Given the description of an element on the screen output the (x, y) to click on. 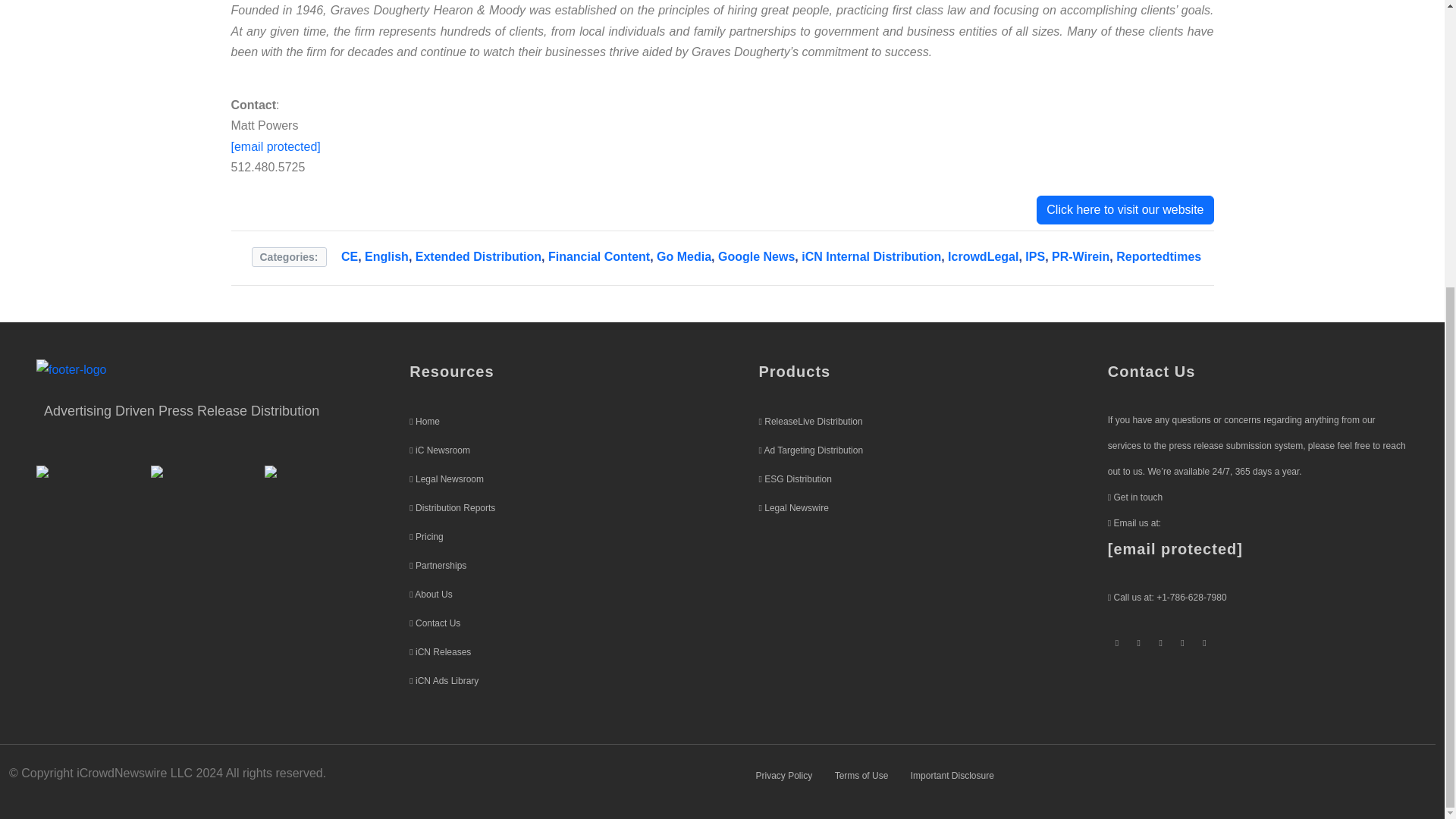
IPS (1035, 256)
Extended Distribution (477, 256)
IcrowdLegal (982, 256)
Google News (755, 256)
Home (426, 421)
Click here to visit our website (1124, 209)
CE (349, 256)
iCN Internal Distribution (871, 256)
Financial Content (598, 256)
PR-Wirein (1080, 256)
Reportedtimes (1158, 256)
English (387, 256)
Go Media (683, 256)
